Given the description of an element on the screen output the (x, y) to click on. 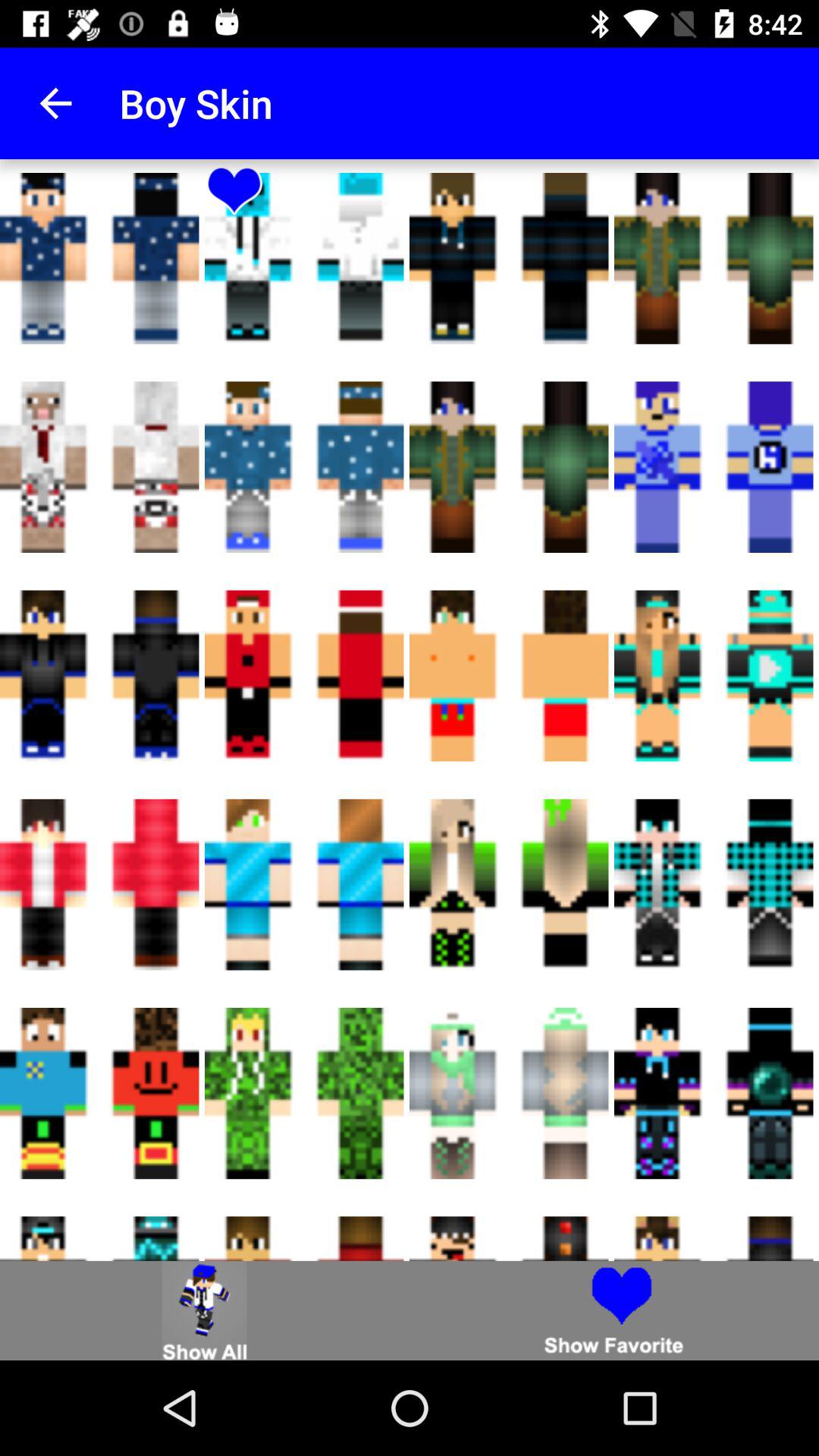
show favorite (614, 1310)
